Given the description of an element on the screen output the (x, y) to click on. 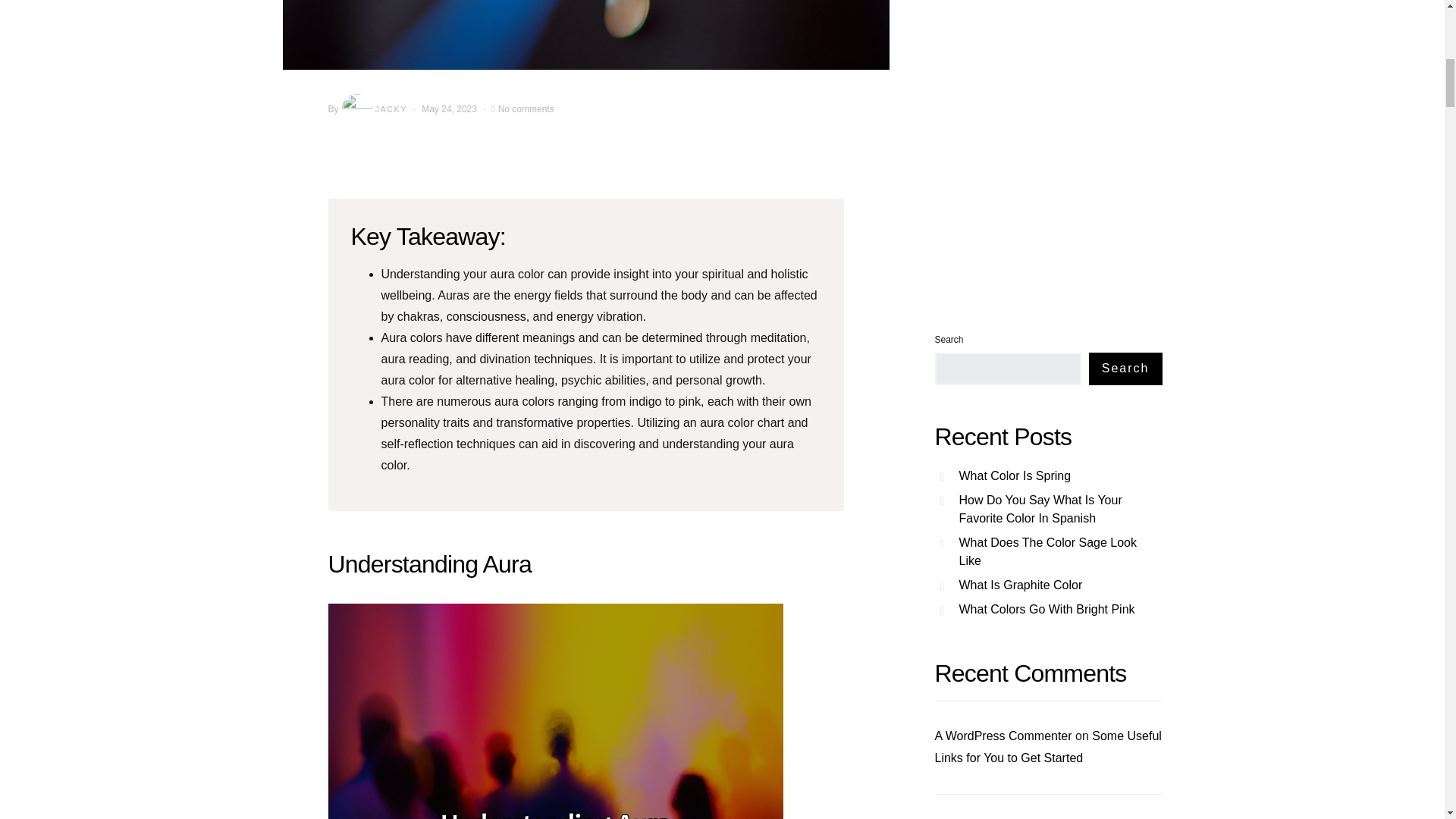
View all posts by Jacky (373, 109)
JACKY (373, 109)
No comments (525, 109)
